Given the description of an element on the screen output the (x, y) to click on. 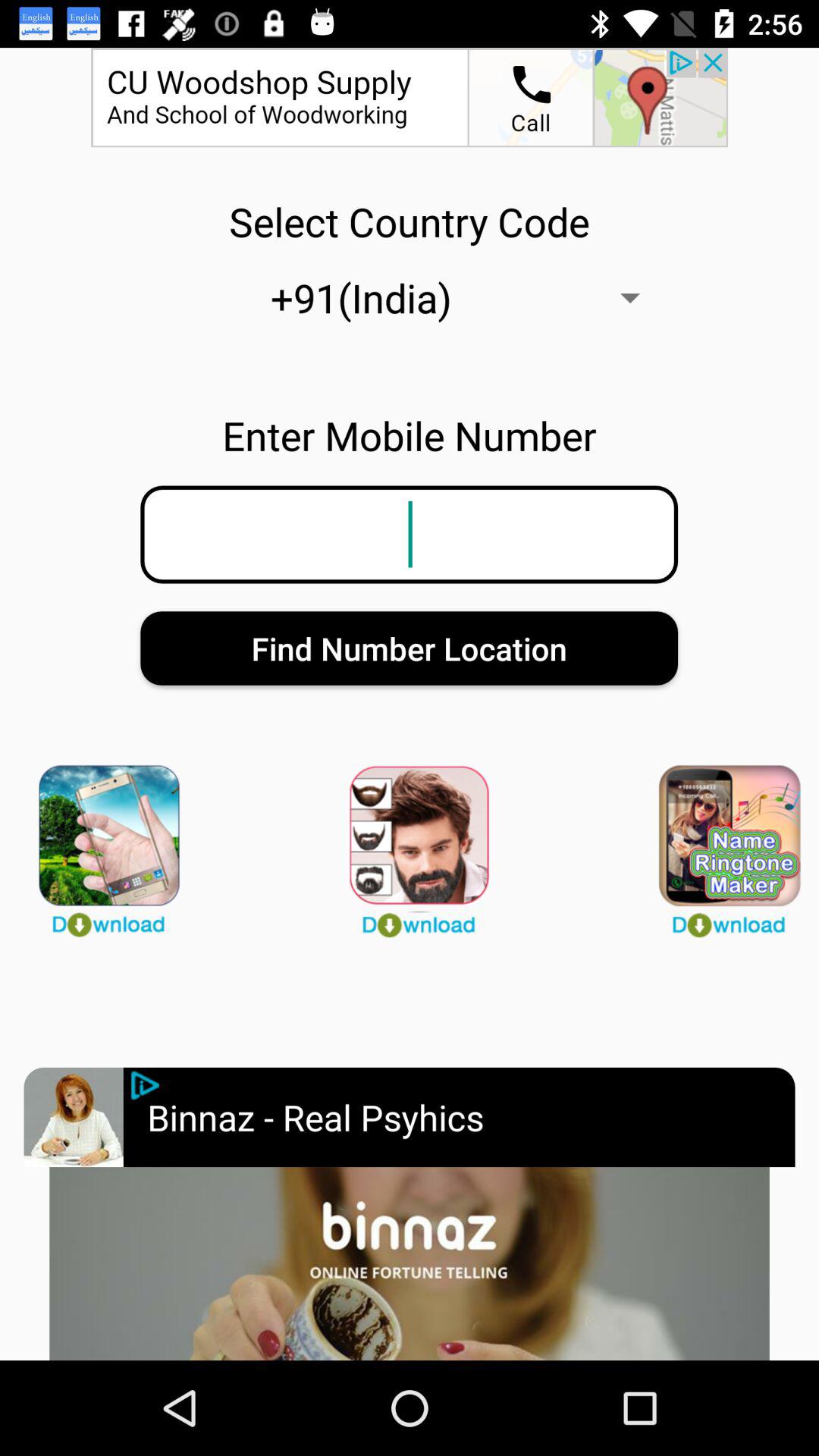
enter mobile number (145, 1085)
